Given the description of an element on the screen output the (x, y) to click on. 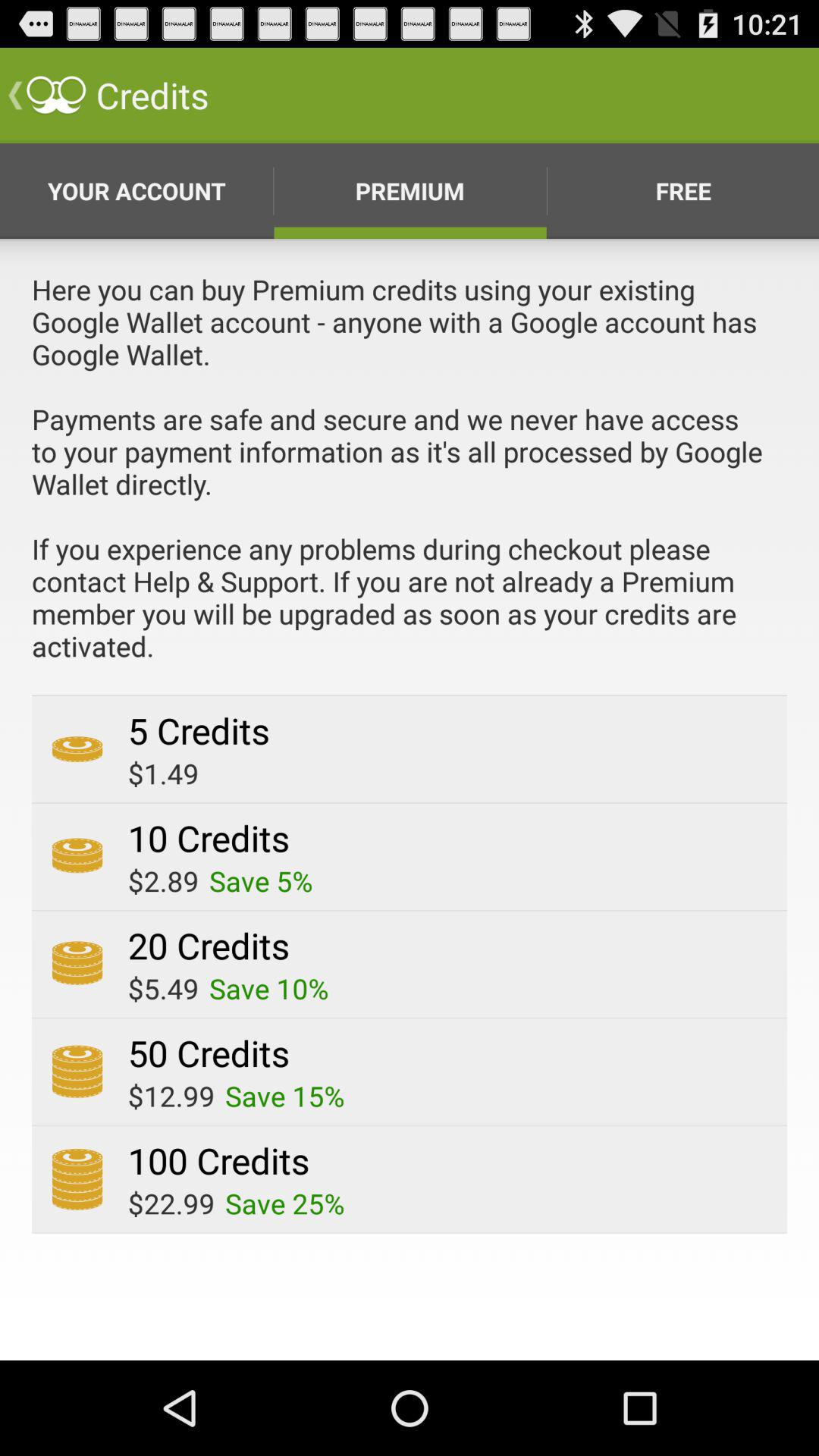
select icon above the 20 credits item (163, 880)
